Given the description of an element on the screen output the (x, y) to click on. 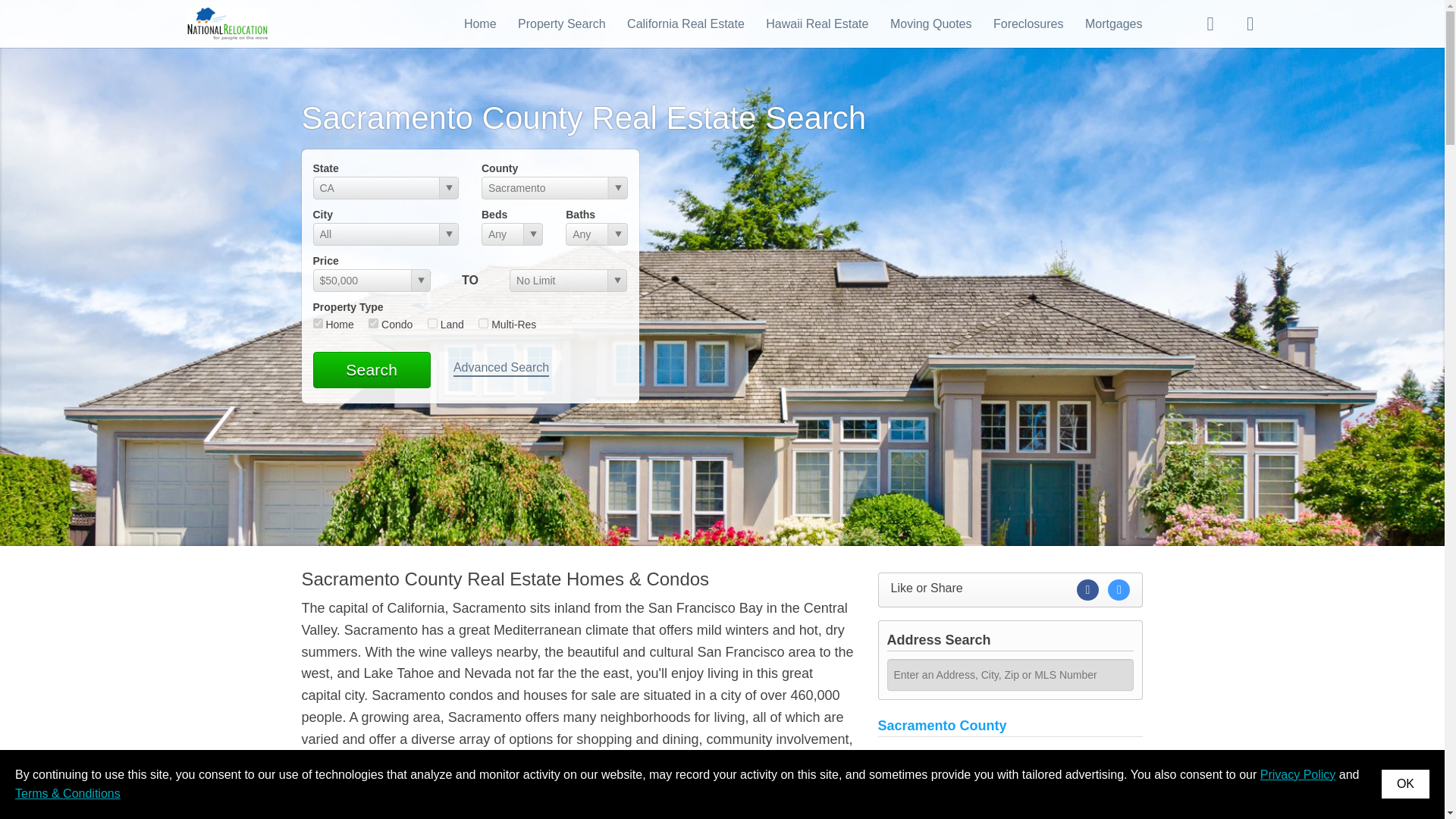
Home (480, 23)
Advanced Search (500, 368)
Foreclosures (1027, 23)
California Real Estate (685, 23)
Search (371, 370)
Mortgages (1113, 23)
Moving Quotes (930, 23)
mul (483, 323)
con (373, 323)
Search (371, 370)
